Given the description of an element on the screen output the (x, y) to click on. 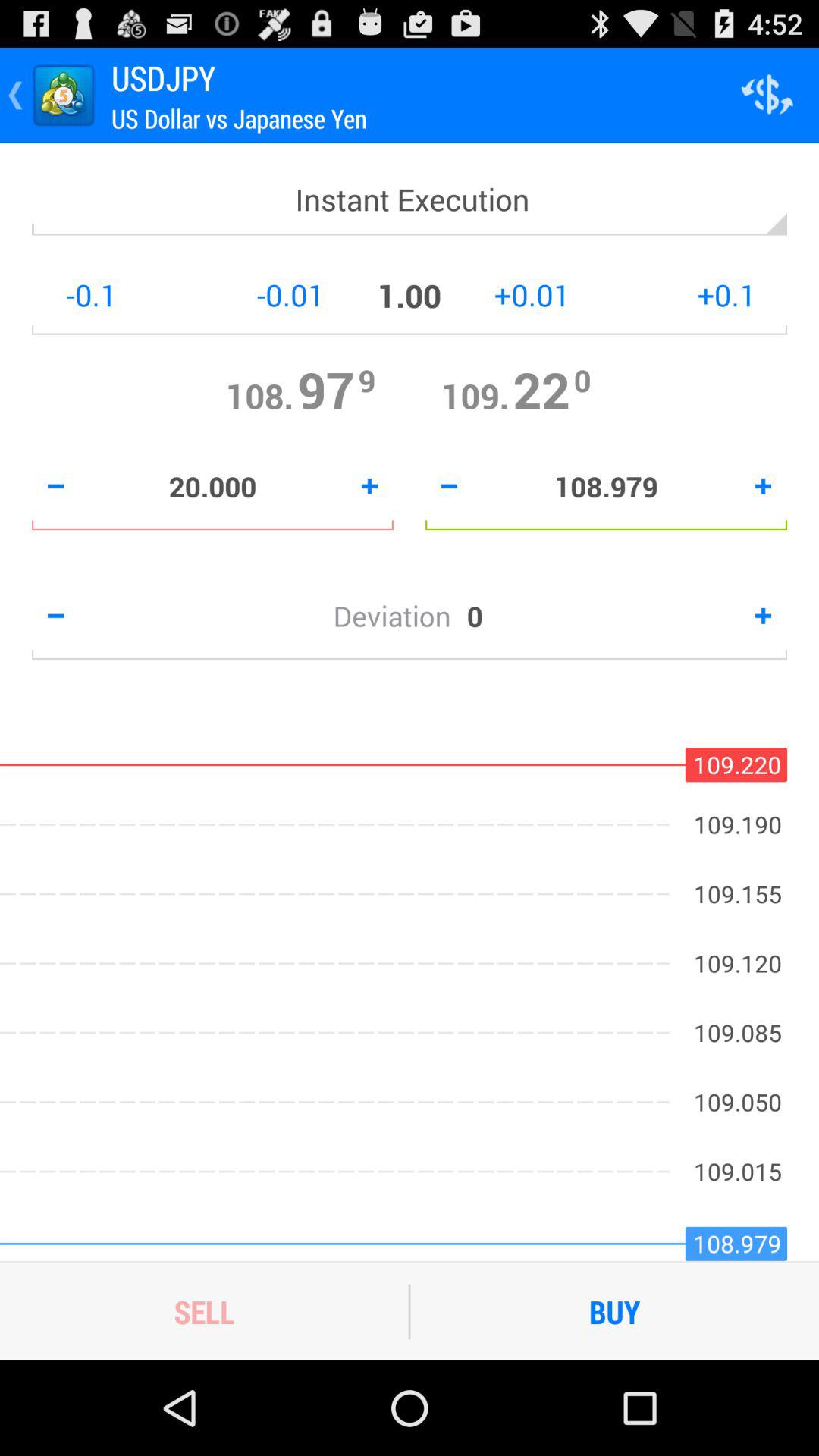
turn on the deviation (399, 615)
